Given the description of an element on the screen output the (x, y) to click on. 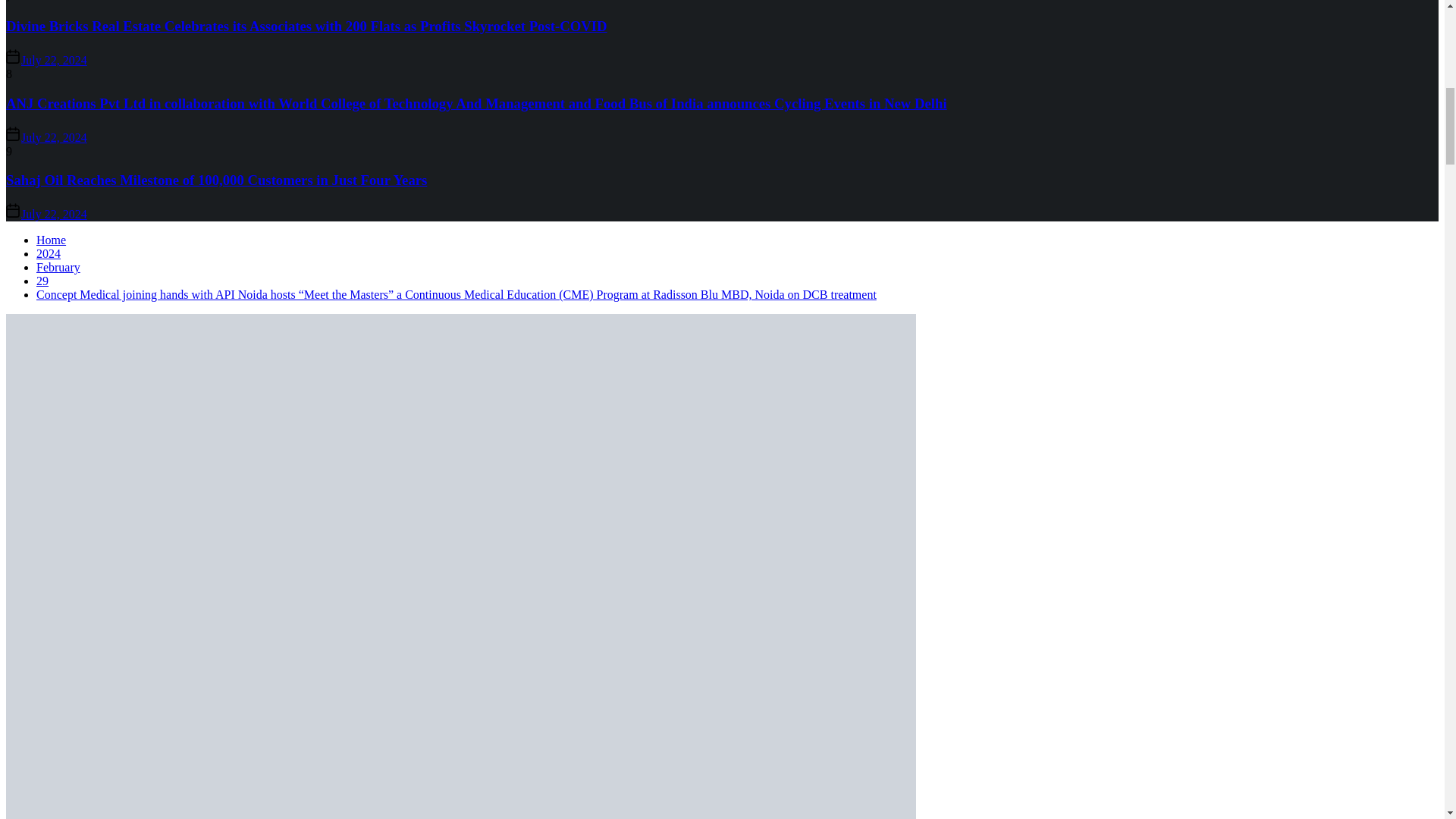
July 22, 2024 (54, 60)
